Given the description of an element on the screen output the (x, y) to click on. 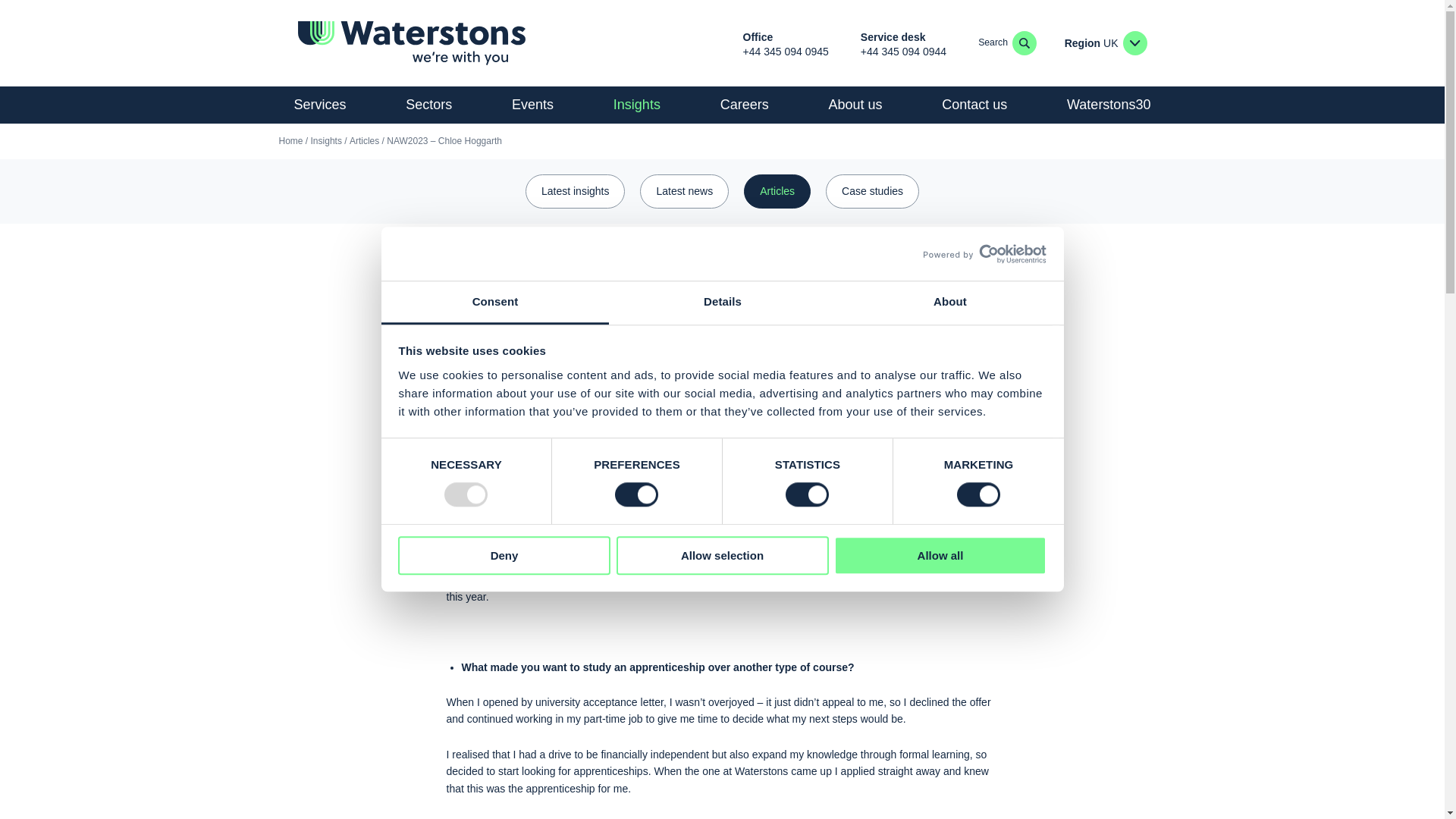
About (948, 302)
Consent (494, 302)
Details (721, 302)
